Given the description of an element on the screen output the (x, y) to click on. 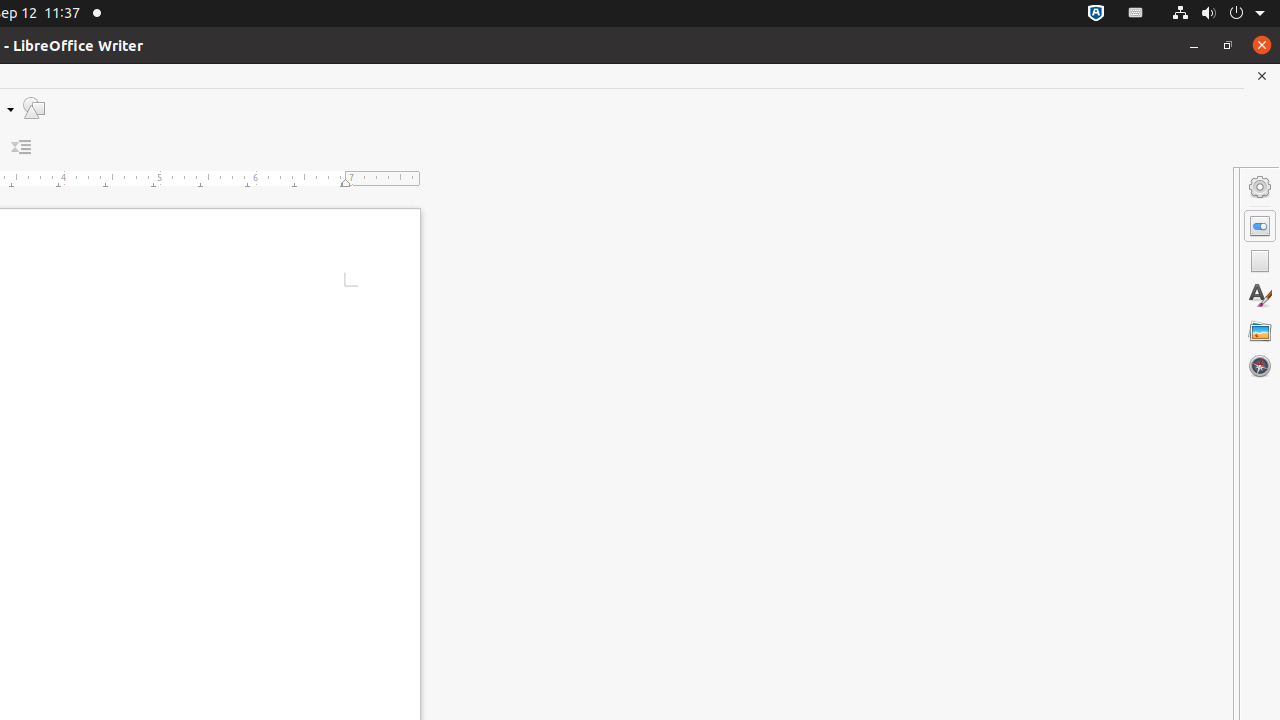
Properties Element type: radio-button (1260, 226)
Styles Element type: radio-button (1260, 296)
Decrease Element type: push-button (21, 147)
:1.72/StatusNotifierItem Element type: menu (1096, 13)
org.kde.StatusNotifierItem-14077-1 Element type: menu (1136, 13)
